Given the description of an element on the screen output the (x, y) to click on. 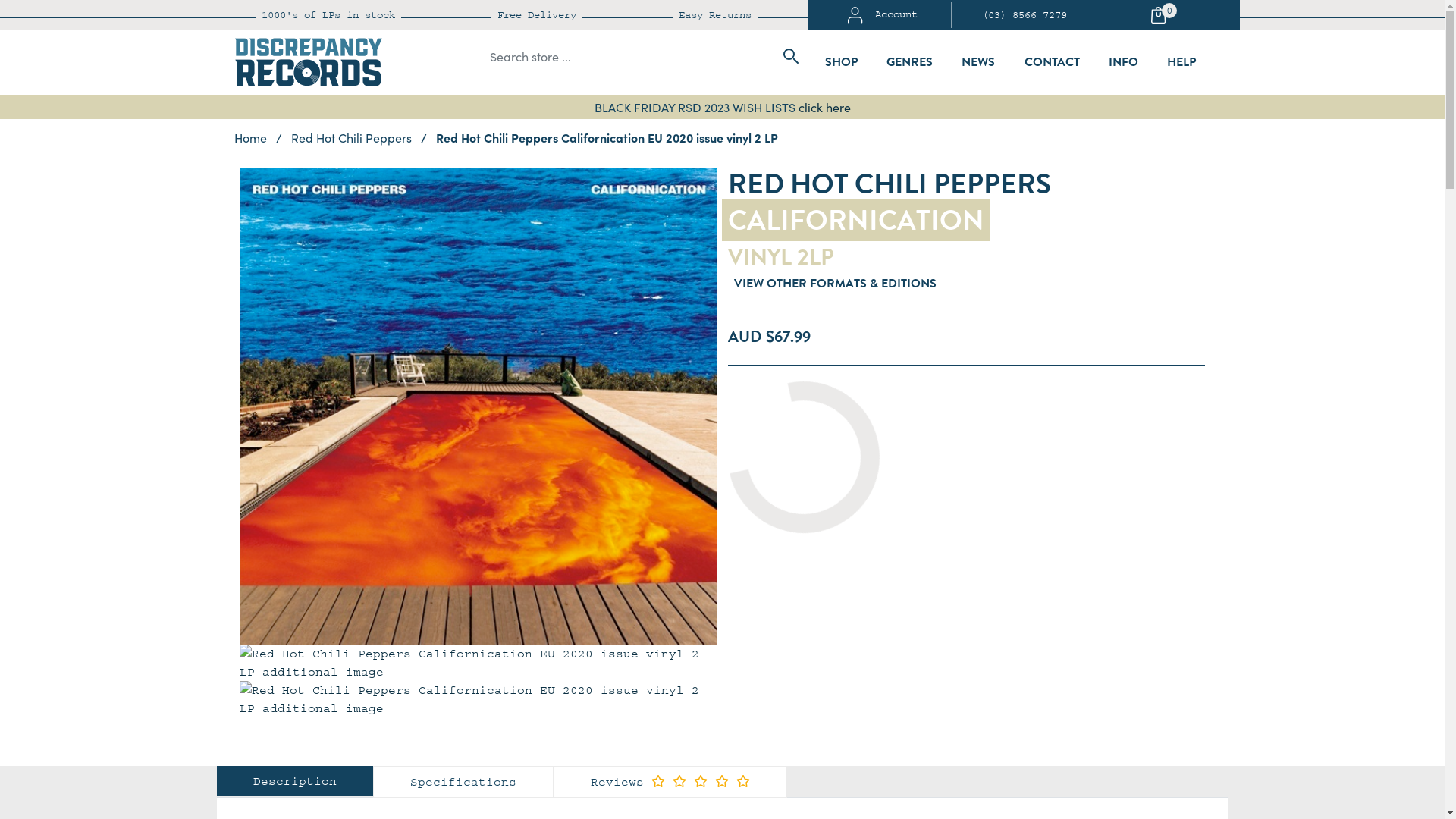
Search Element type: text (786, 55)
Specifications Element type: text (463, 781)
Reviews Element type: text (670, 781)
HELP Element type: text (1180, 62)
(03) 8566 7279 Element type: text (1024, 15)
INFO Element type: text (1123, 62)
Description Element type: text (294, 780)
click here Element type: text (823, 106)
Red Hot Chili Peppers Element type: text (352, 136)
0 Element type: text (1165, 15)
CONTACT Element type: text (1051, 62)
GENRES Element type: text (909, 62)
NEWS Element type: text (978, 62)
SHOP Element type: text (840, 62)
Home Element type: text (249, 136)
Account Element type: text (881, 15)
